Given the description of an element on the screen output the (x, y) to click on. 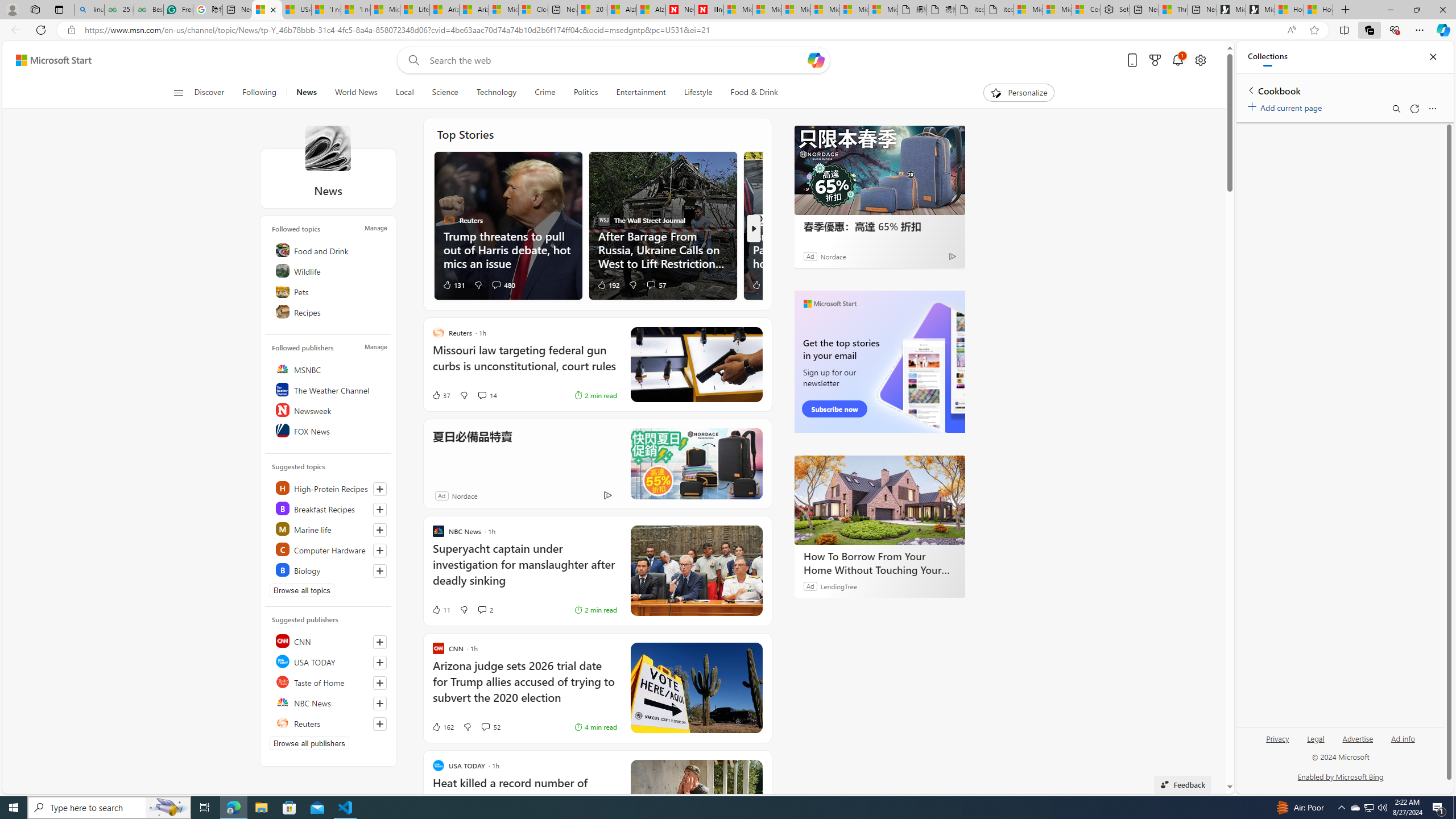
How to Use a TV as a Computer Monitor (1318, 9)
View comments 52 Comment (485, 726)
linux basic - Search (89, 9)
